Given the description of an element on the screen output the (x, y) to click on. 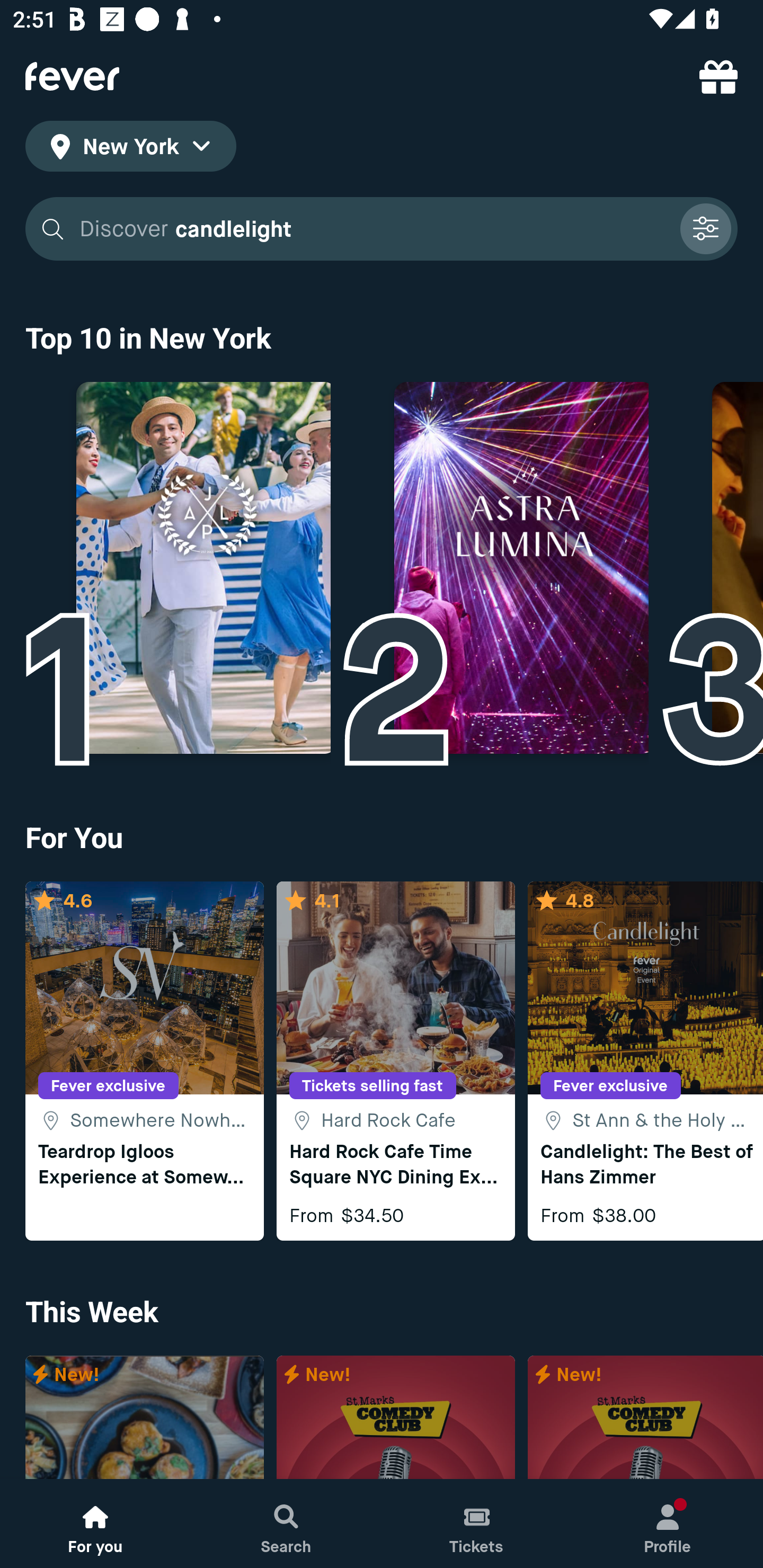
referral (718, 75)
location icon New York location icon (130, 149)
Discover candlelight (381, 228)
Discover candlelight (373, 228)
cover image New! label New! (144, 1417)
cover image New! label New! Fever exclusive (395, 1417)
cover image New! label New! Fever exclusive (645, 1417)
Search (285, 1523)
Tickets (476, 1523)
Profile, New notification Profile (667, 1523)
